Given the description of an element on the screen output the (x, y) to click on. 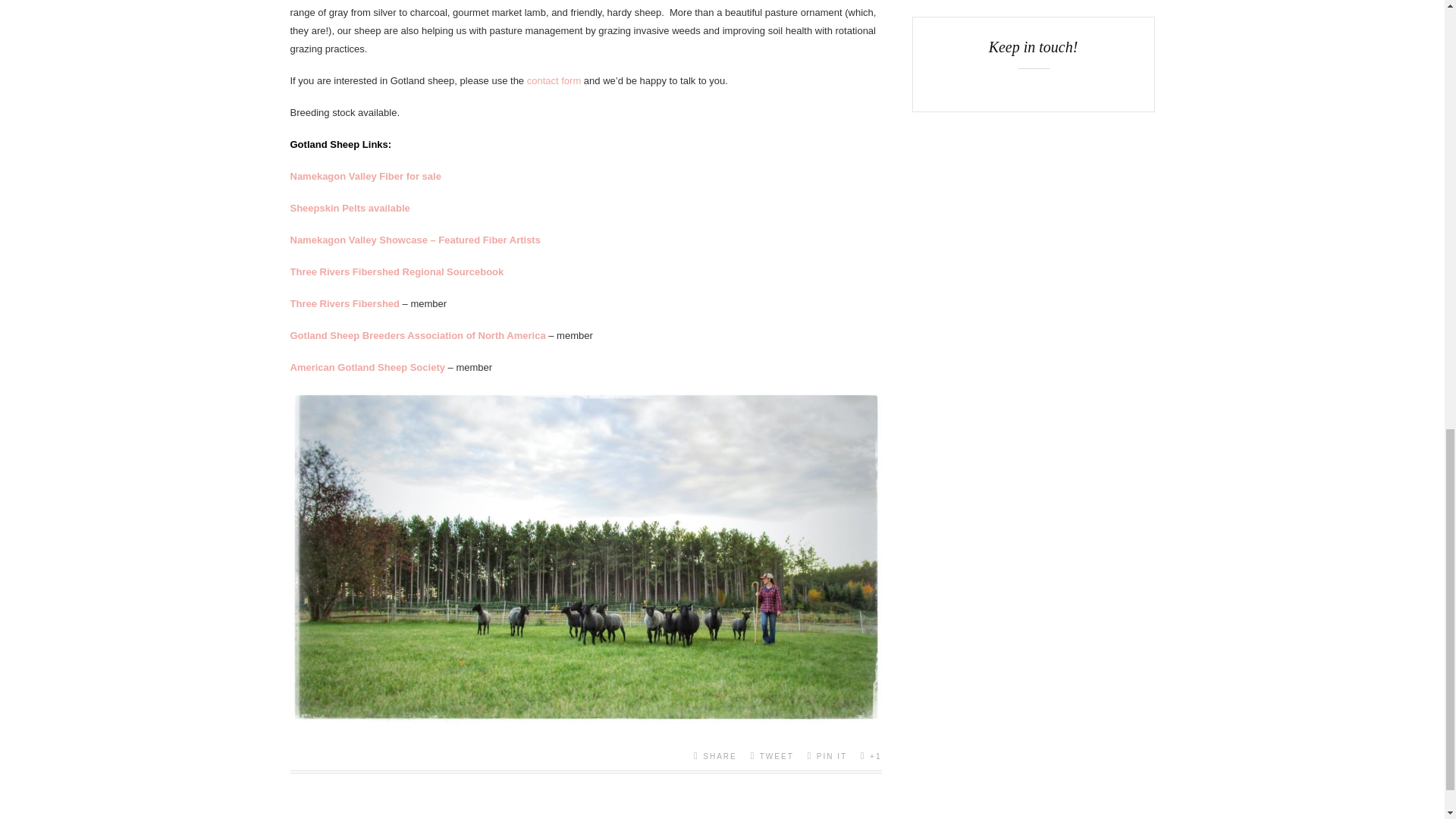
Three Rivers Fibershed (343, 303)
TWEET (771, 755)
Three Rivers Fibershed Regional Sourcebook (396, 271)
SHARE (715, 755)
Sheepskin Pelts available (349, 207)
PIN IT (826, 755)
Gotland Sheep Breeders Association of North America (416, 335)
Namekagon Valley Fiber for sale (365, 175)
contact form (553, 80)
American Gotland Sheep Society (366, 367)
